Given the description of an element on the screen output the (x, y) to click on. 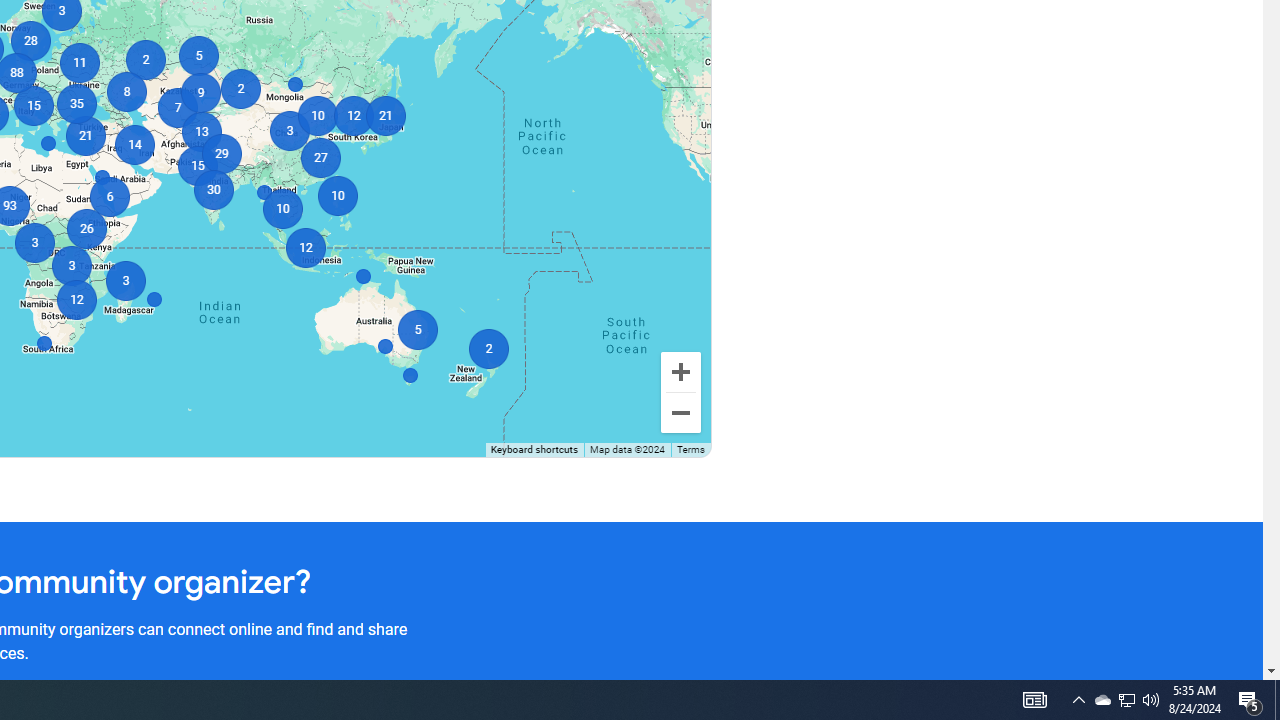
3 (34, 242)
15 (32, 105)
26 (86, 228)
21 (384, 115)
2 (488, 348)
12 (305, 247)
8 (126, 92)
Zoom out (680, 412)
30 (213, 189)
28 (30, 40)
9 (200, 92)
7 (177, 107)
13 (200, 131)
11 (78, 62)
